Given the description of an element on the screen output the (x, y) to click on. 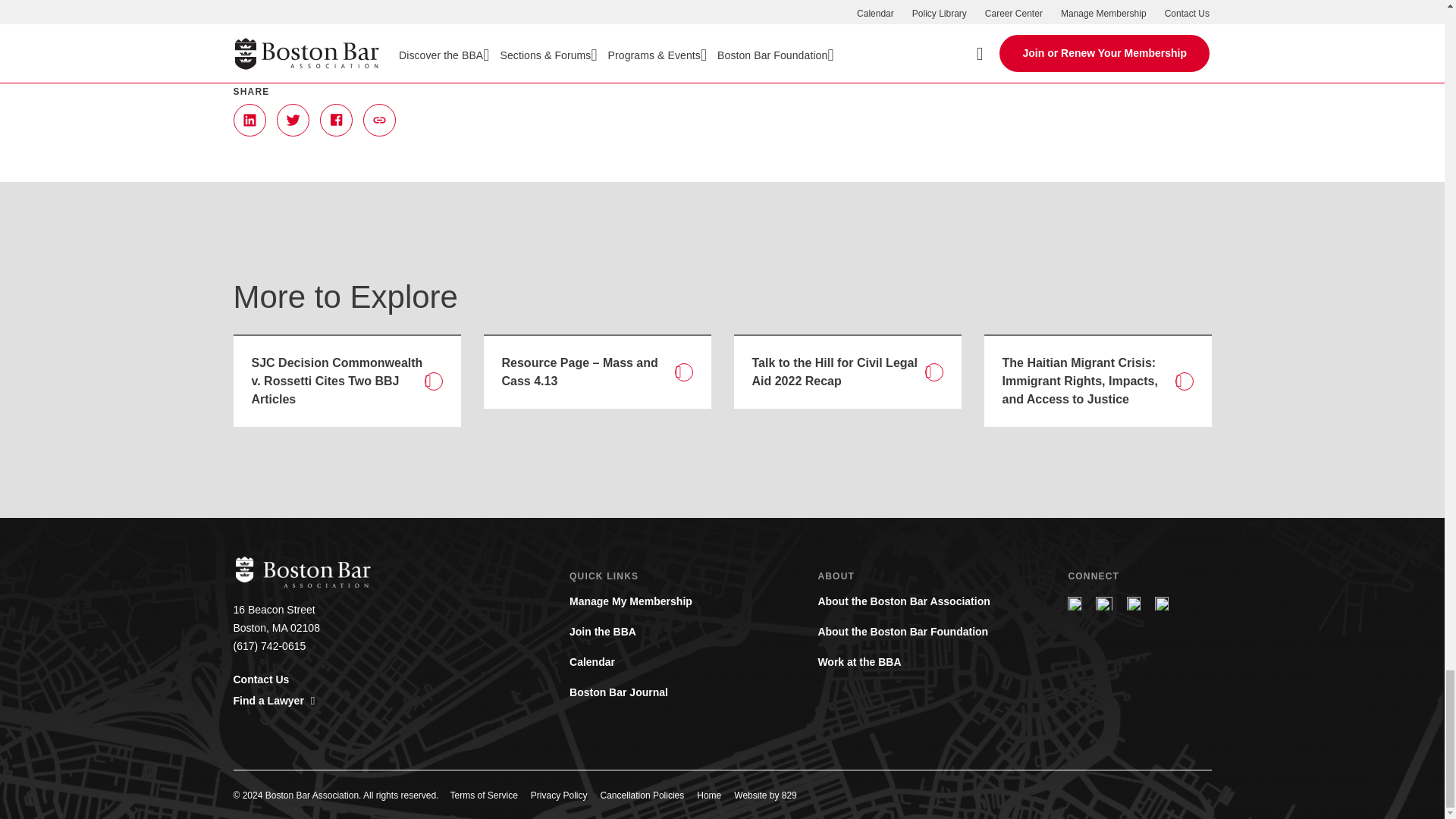
Twitter (292, 120)
Facebook (336, 120)
LinkedIn (249, 120)
Copy Link (378, 120)
